Given the description of an element on the screen output the (x, y) to click on. 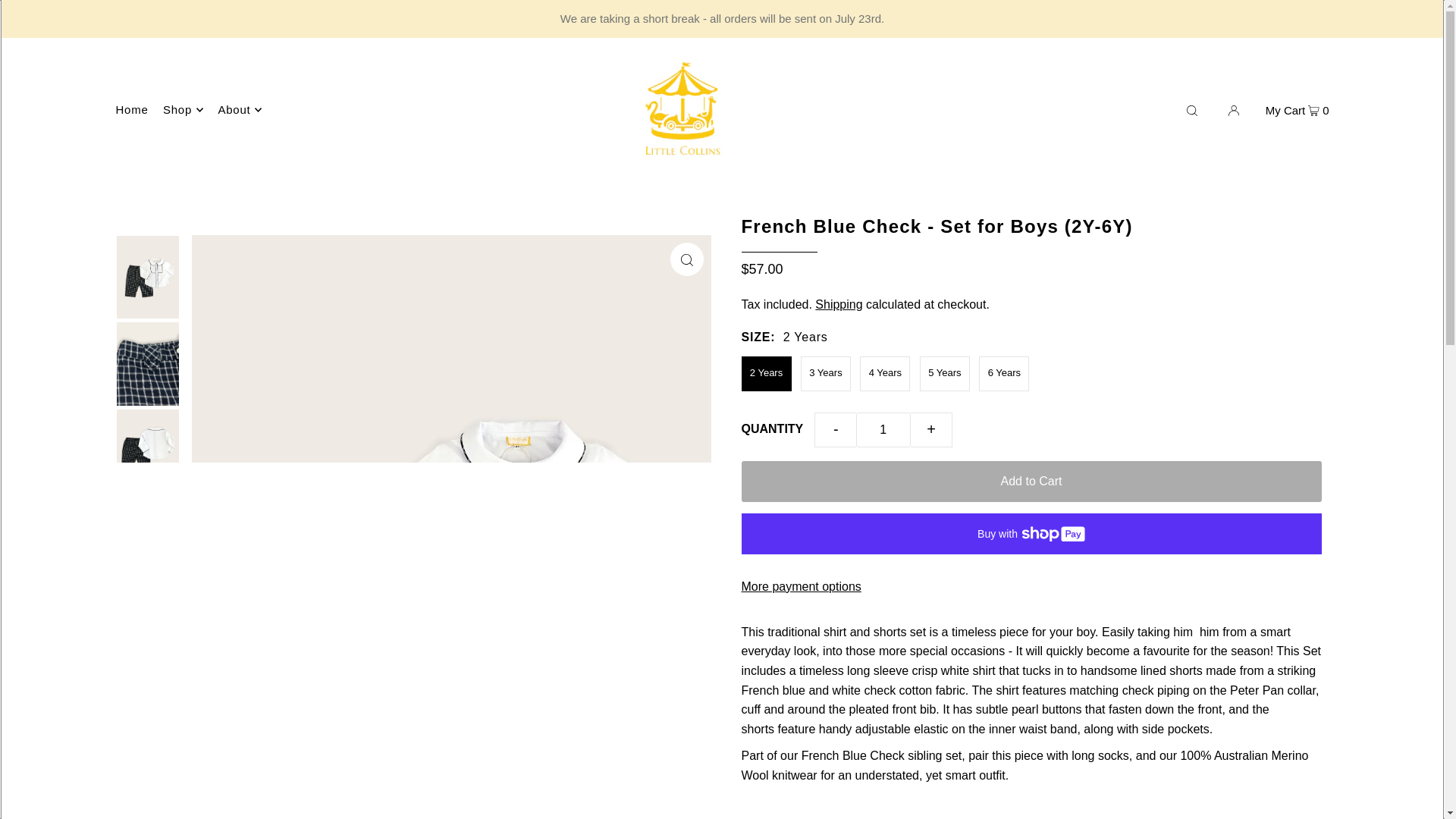
Add to Cart (1031, 481)
Shipping (838, 304)
- (834, 429)
Click to zoom (686, 259)
1 (883, 429)
Shop (183, 109)
Home (131, 109)
About (239, 109)
